Given the description of an element on the screen output the (x, y) to click on. 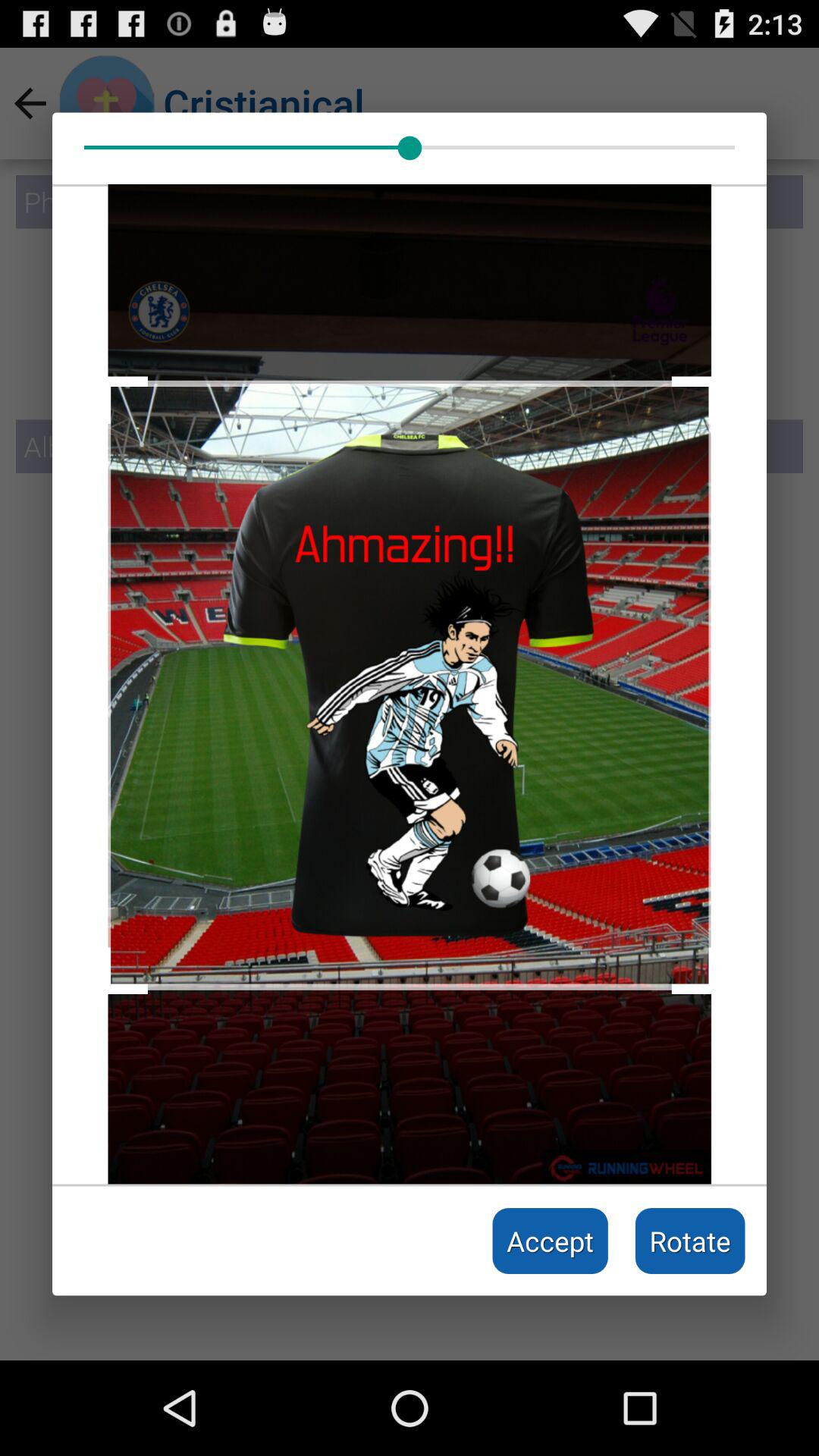
turn on the accept (549, 1240)
